Given the description of an element on the screen output the (x, y) to click on. 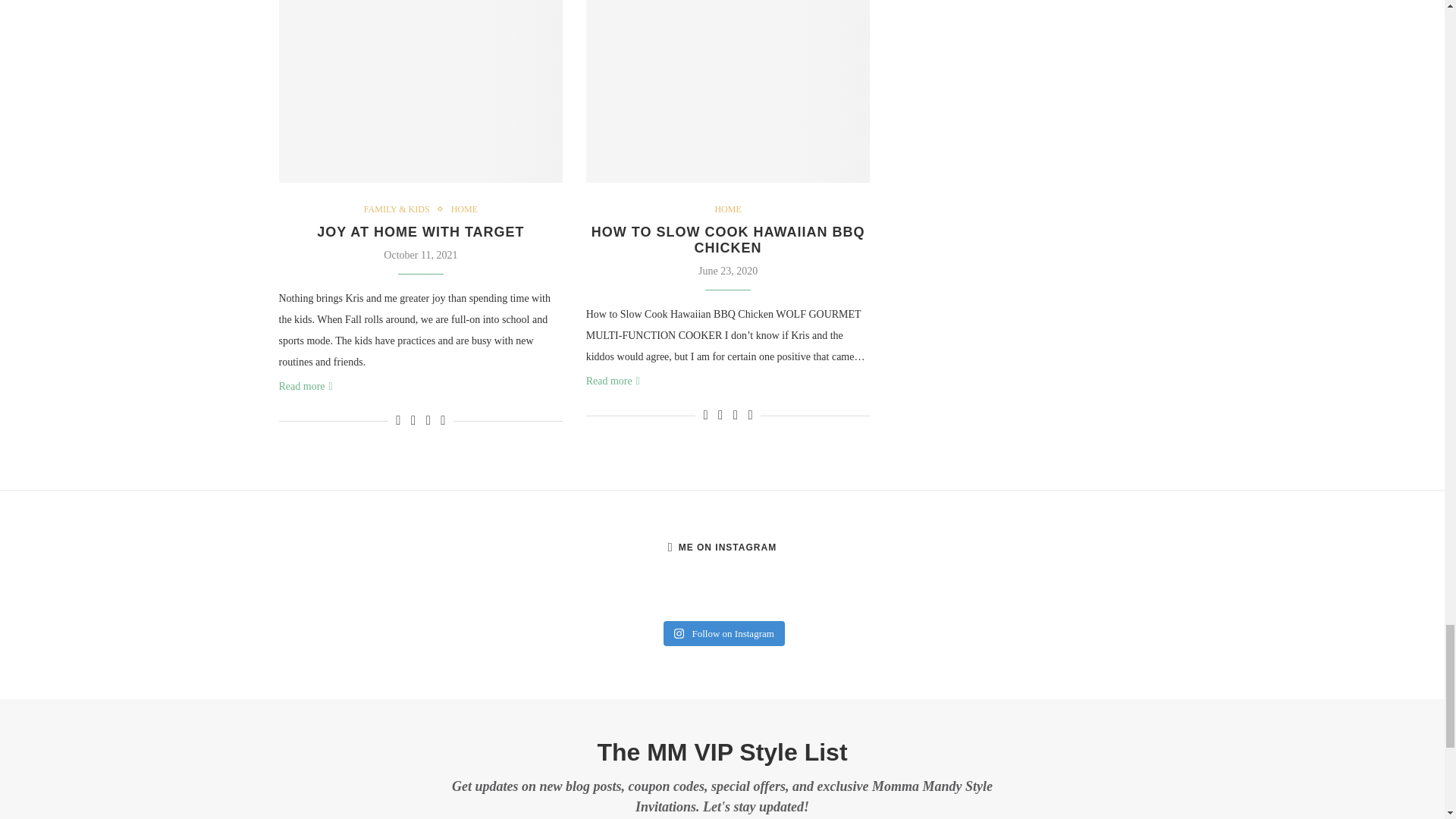
How to Slow Cook Hawaiian BBQ Chicken (728, 91)
Joy at Home with Target (421, 91)
Like (398, 420)
Like (705, 415)
